Given the description of an element on the screen output the (x, y) to click on. 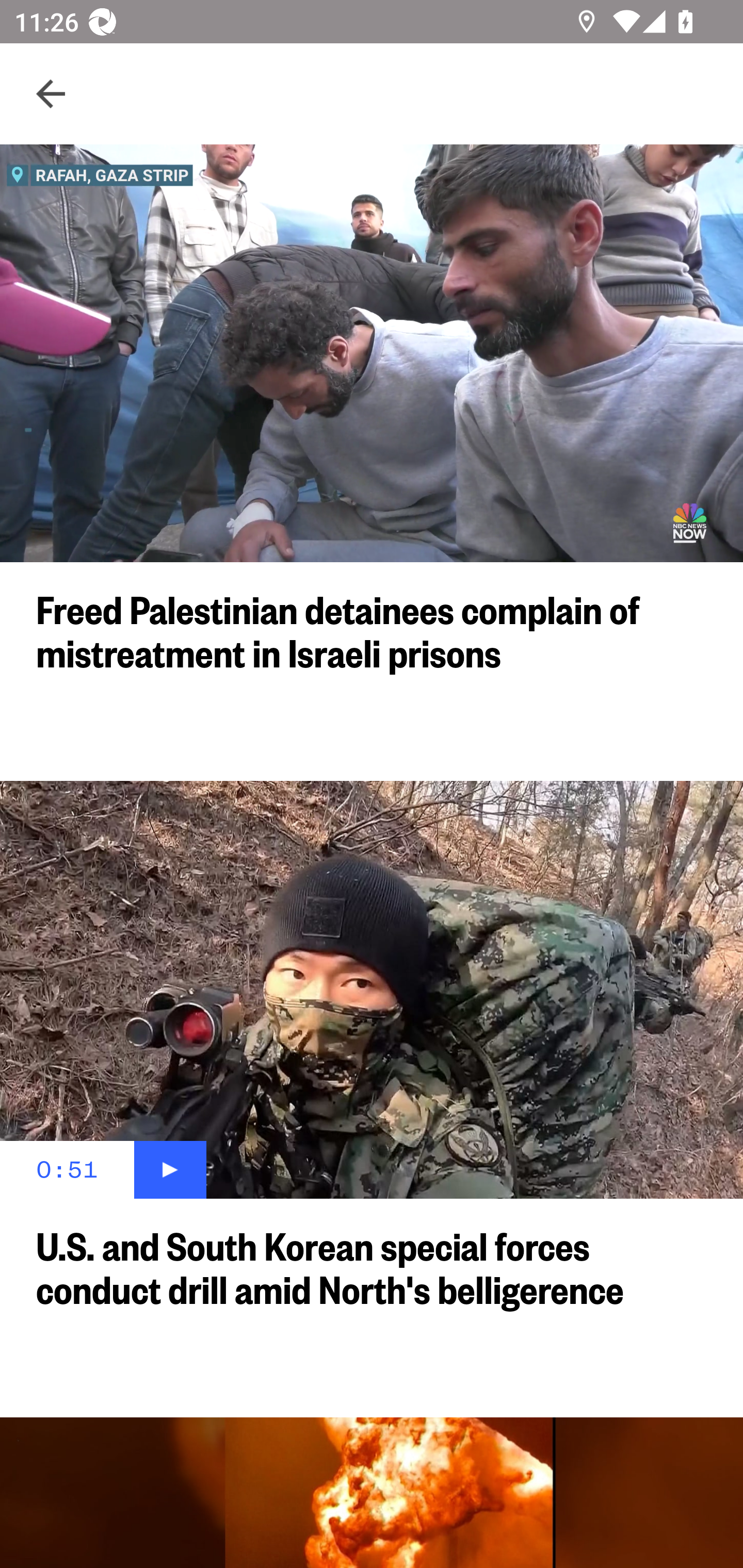
Navigate up (50, 93)
